Given the description of an element on the screen output the (x, y) to click on. 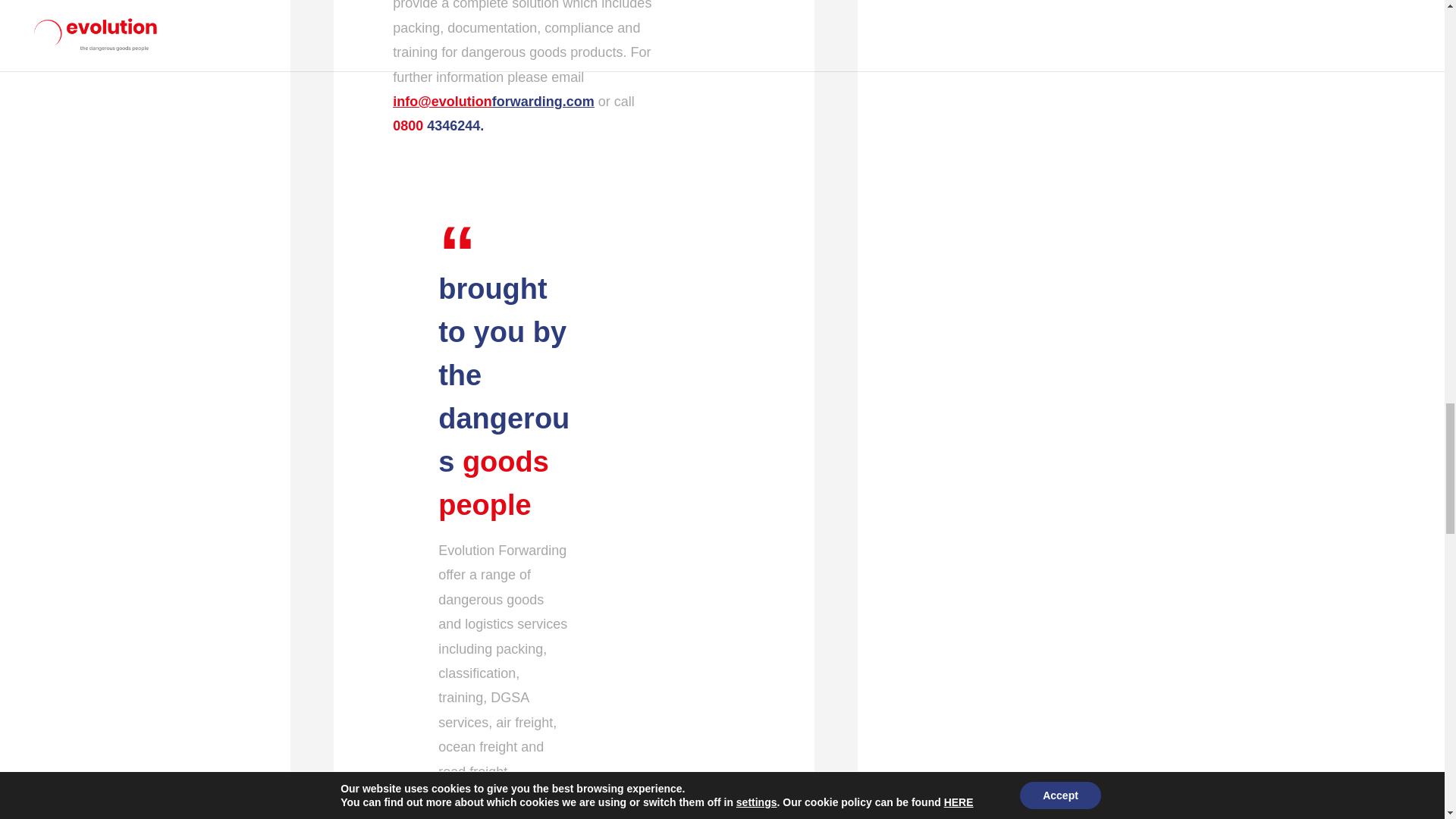
The dangerous goods people (643, 314)
